Given the description of an element on the screen output the (x, y) to click on. 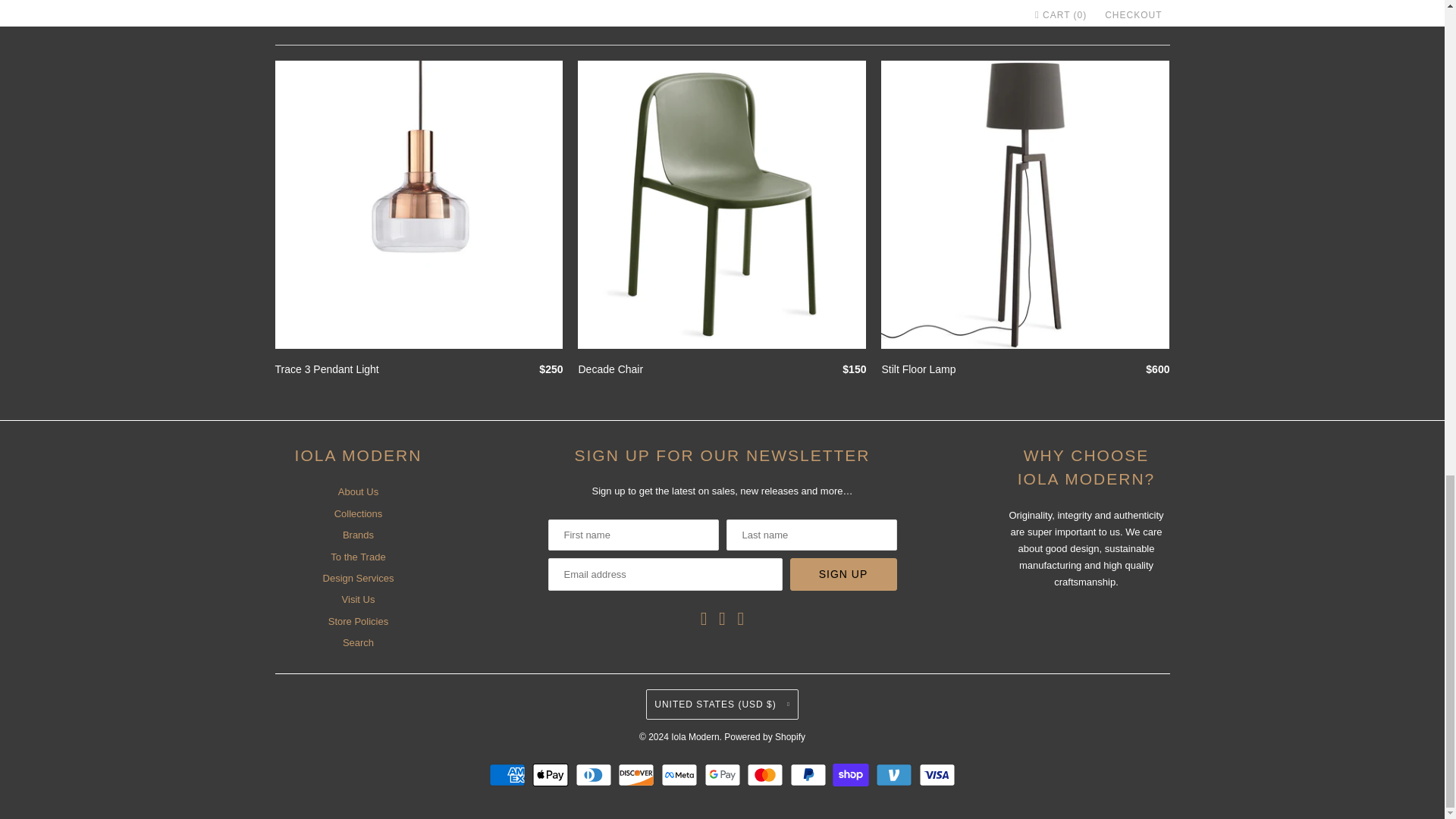
Meta Pay (681, 774)
Venmo (895, 774)
PayPal (809, 774)
Discover (637, 774)
Mastercard (766, 774)
American Express (509, 774)
Diners Club (595, 774)
Visa (936, 774)
Shop Pay (852, 774)
Sign Up (843, 573)
